Given the description of an element on the screen output the (x, y) to click on. 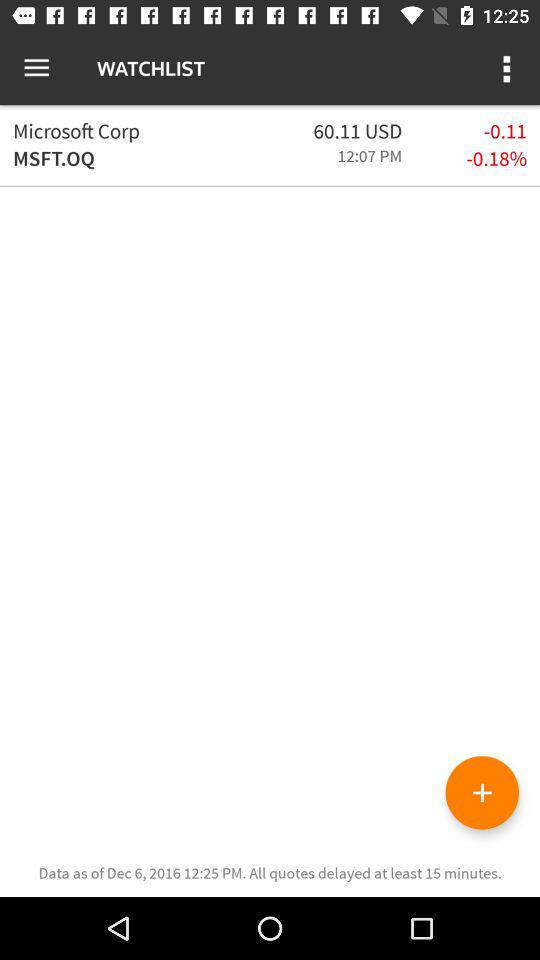
select the icon next to watchlist (36, 68)
